Given the description of an element on the screen output the (x, y) to click on. 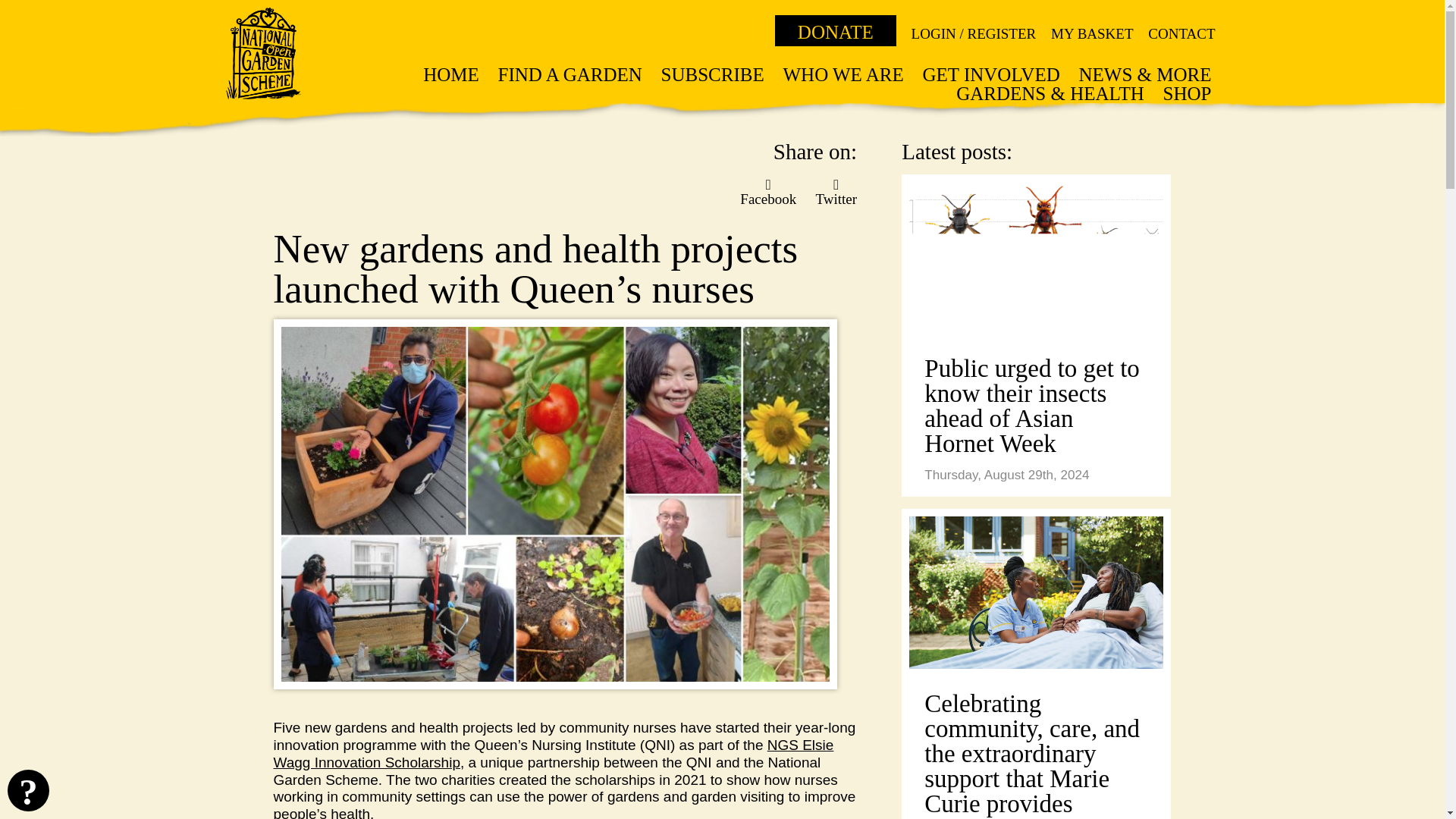
CONTACT (1181, 33)
FIND A GARDEN (569, 74)
DONATE (835, 30)
GET INVOLVED (990, 74)
HOME (451, 74)
WHO WE ARE (842, 74)
SUBSCRIBE (712, 74)
MY BASKET (1092, 33)
